Given the description of an element on the screen output the (x, y) to click on. 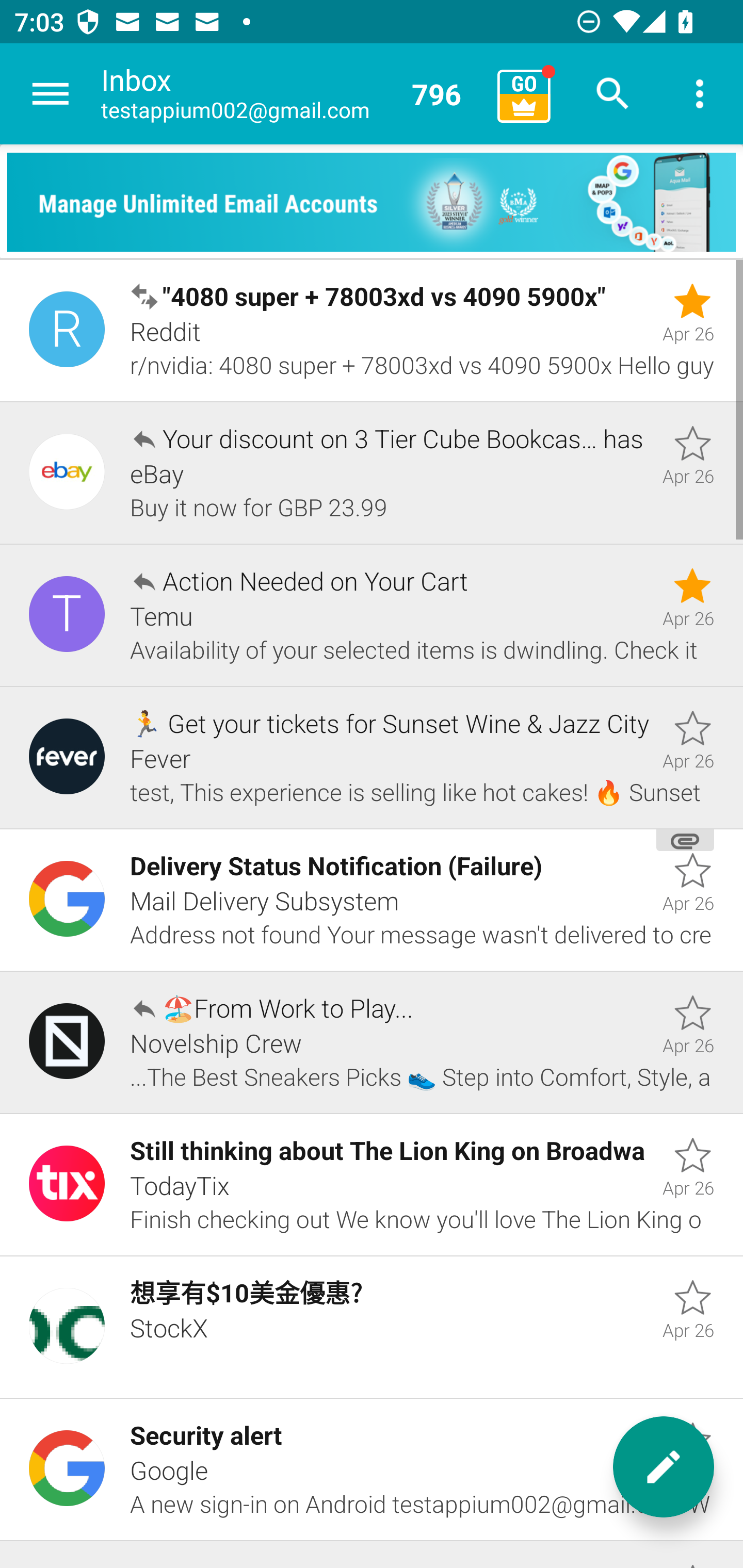
Navigate up (50, 93)
Inbox testappium002@gmail.com 796 (291, 93)
Search (612, 93)
More options (699, 93)
Unread, 想享有$10美金優惠?, StockX, Apr 26 (371, 1326)
New message (663, 1466)
